Given the description of an element on the screen output the (x, y) to click on. 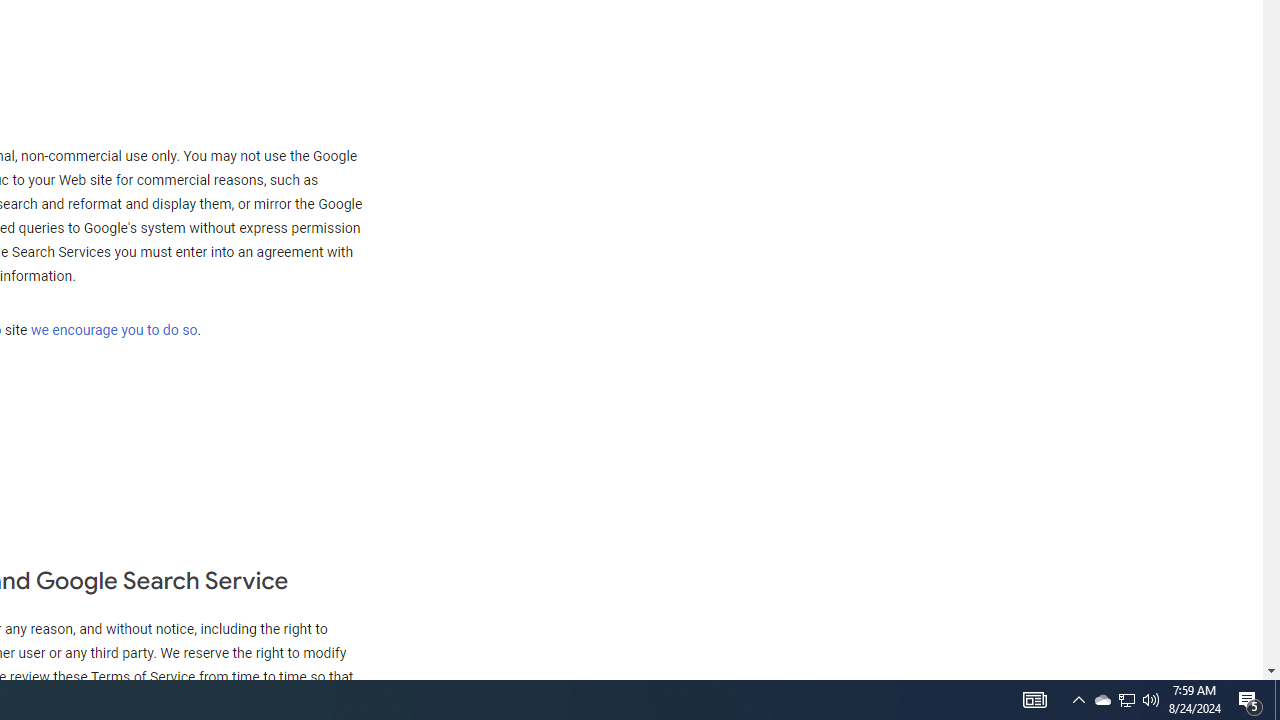
we encourage you to do so (113, 330)
